Given the description of an element on the screen output the (x, y) to click on. 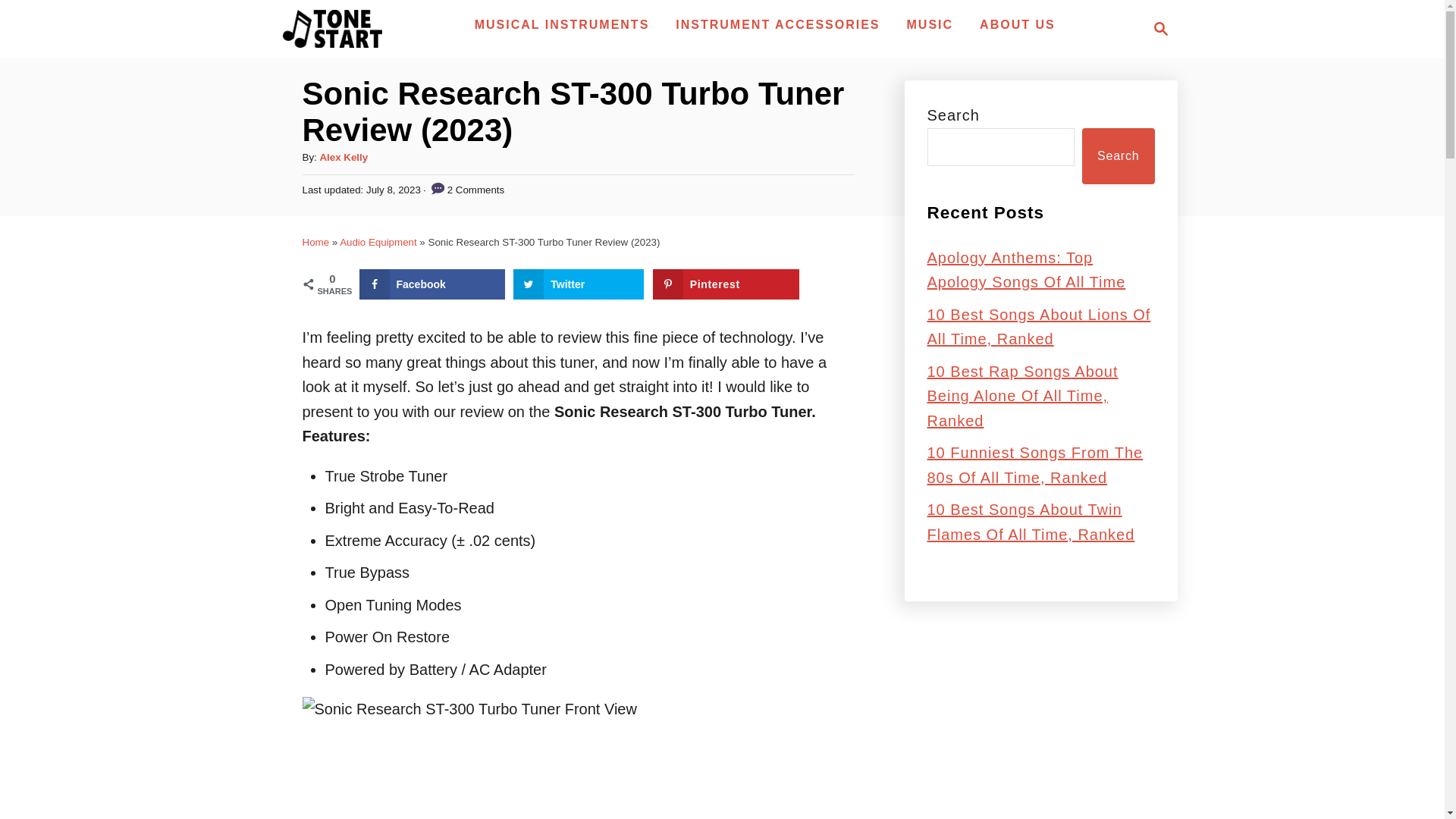
Save to Pinterest (725, 284)
Sonic Research ST-300 Turbo Tuner Front View (577, 757)
Alex Kelly (343, 156)
ABOUT US (1017, 24)
Home (315, 242)
INSTRUMENT ACCESSORIES (777, 24)
Share on Facebook (432, 284)
MUSICAL INSTRUMENTS (562, 24)
Twitter (578, 284)
Share on Twitter (578, 284)
